Given the description of an element on the screen output the (x, y) to click on. 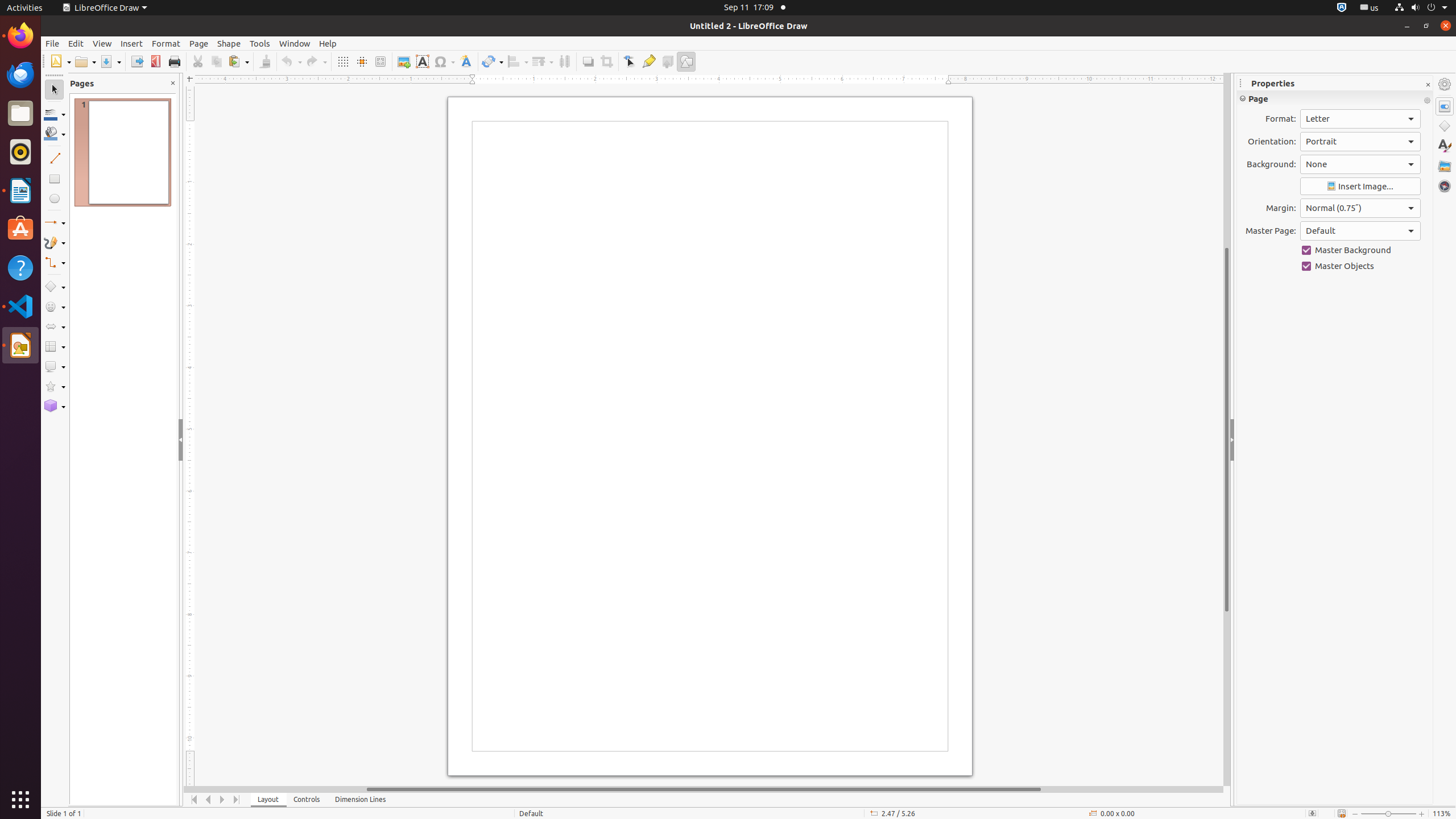
Distribution Element type: push-button (564, 61)
Flowchart Shapes Element type: push-button (54, 346)
Orientation: Element type: combo-box (1360, 141)
File Element type: menu (51, 43)
Edit Points Element type: push-button (629, 61)
